Given the description of an element on the screen output the (x, y) to click on. 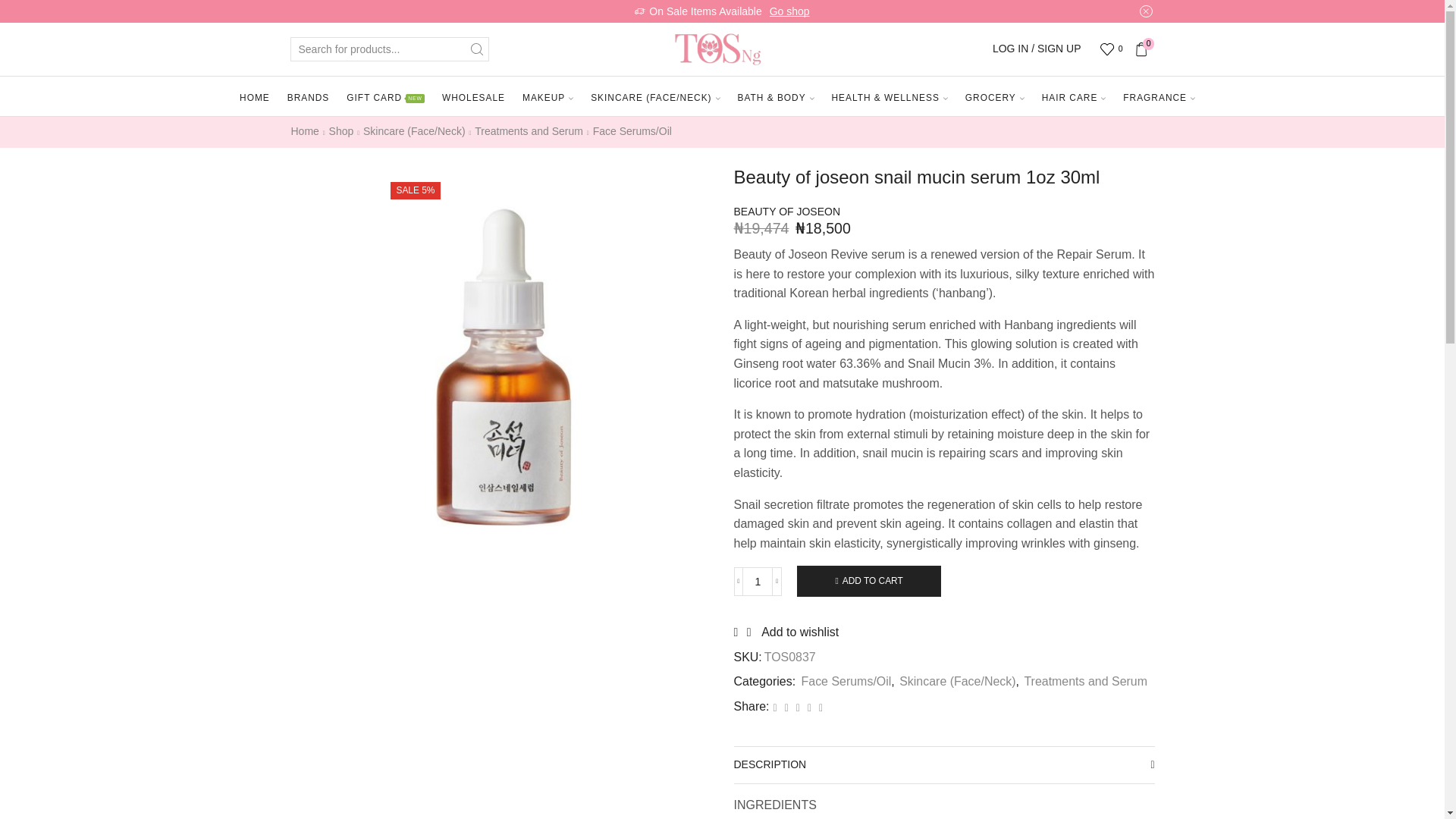
1 (756, 581)
MAKEUP (551, 98)
GIFT CARDNEW (388, 98)
BRANDS (311, 98)
0 (1113, 49)
HOME (258, 98)
whatsapp (809, 707)
Twitter (775, 707)
View brand (787, 212)
